Given the description of an element on the screen output the (x, y) to click on. 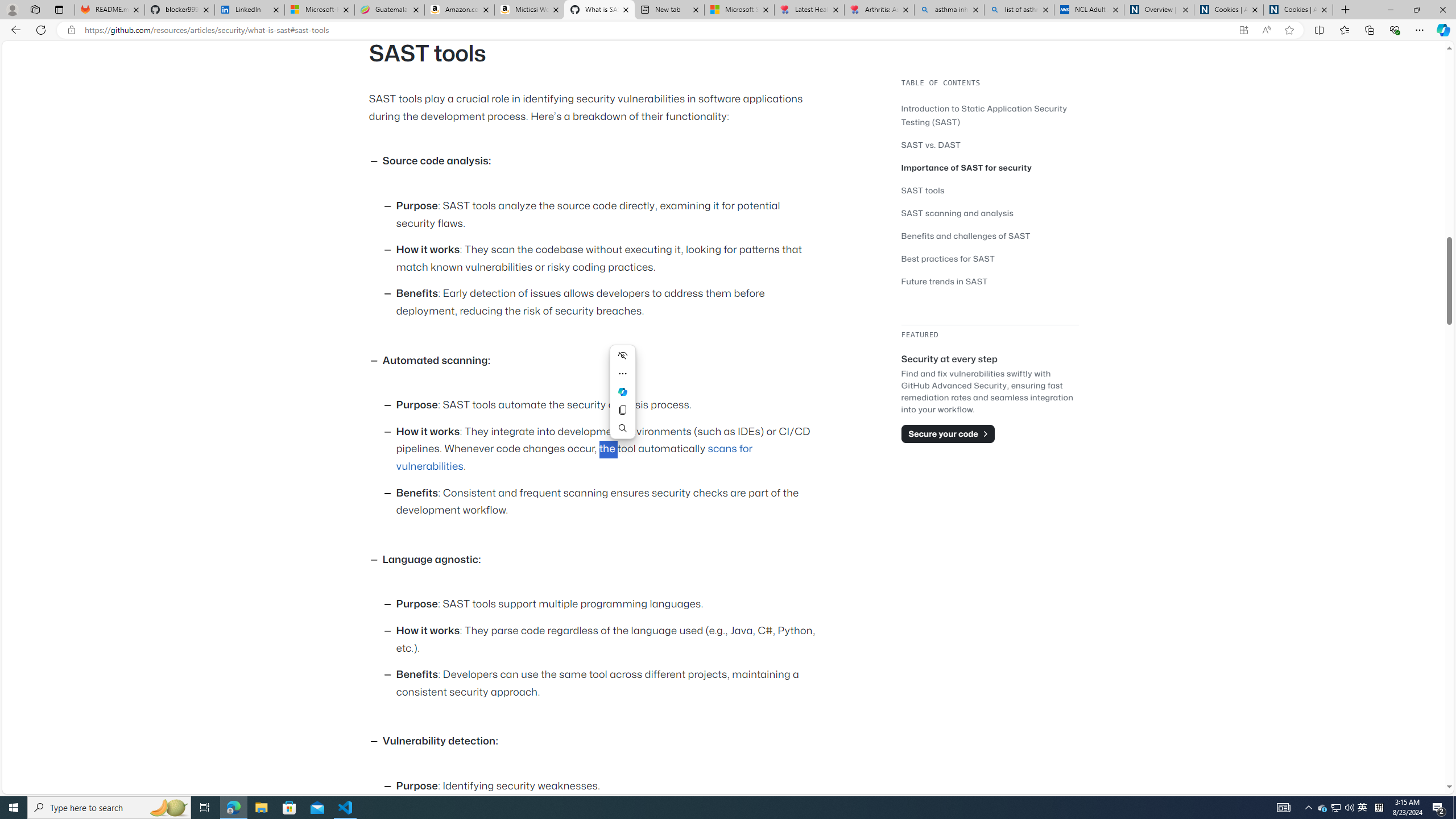
Introduction to Static Application Security Testing (SAST) (989, 115)
Benefits and challenges of SAST (989, 235)
Secure your code (947, 433)
Importance of SAST for security (989, 167)
Best practices for SAST (948, 258)
Hide menu (622, 355)
Mini menu on text selection (623, 398)
Purpose: Identifying security weaknesses. (608, 786)
